Given the description of an element on the screen output the (x, y) to click on. 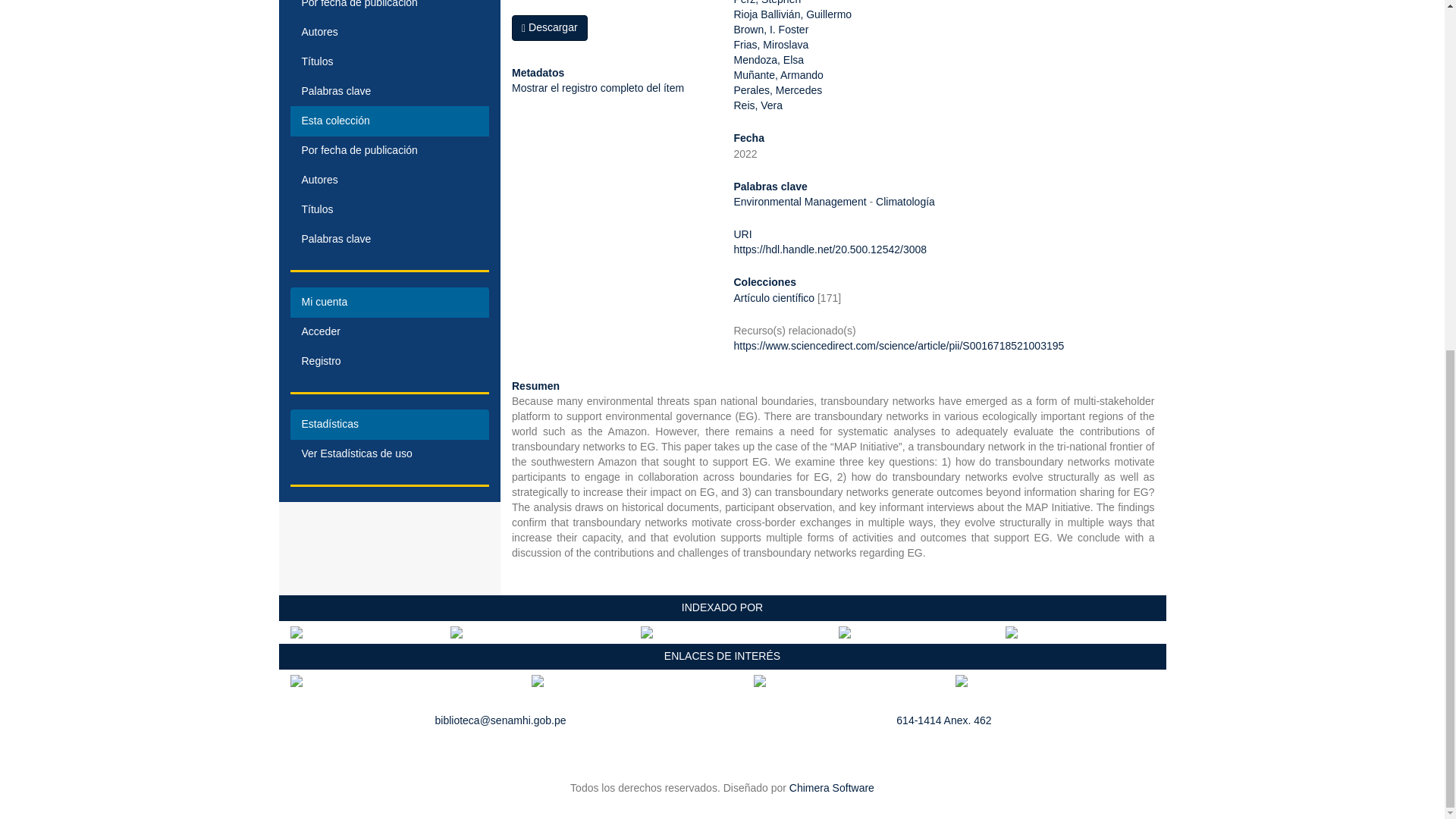
Palabras clave (389, 91)
Palabras clave (389, 239)
Autores (389, 180)
Autores (389, 32)
